Given the description of an element on the screen output the (x, y) to click on. 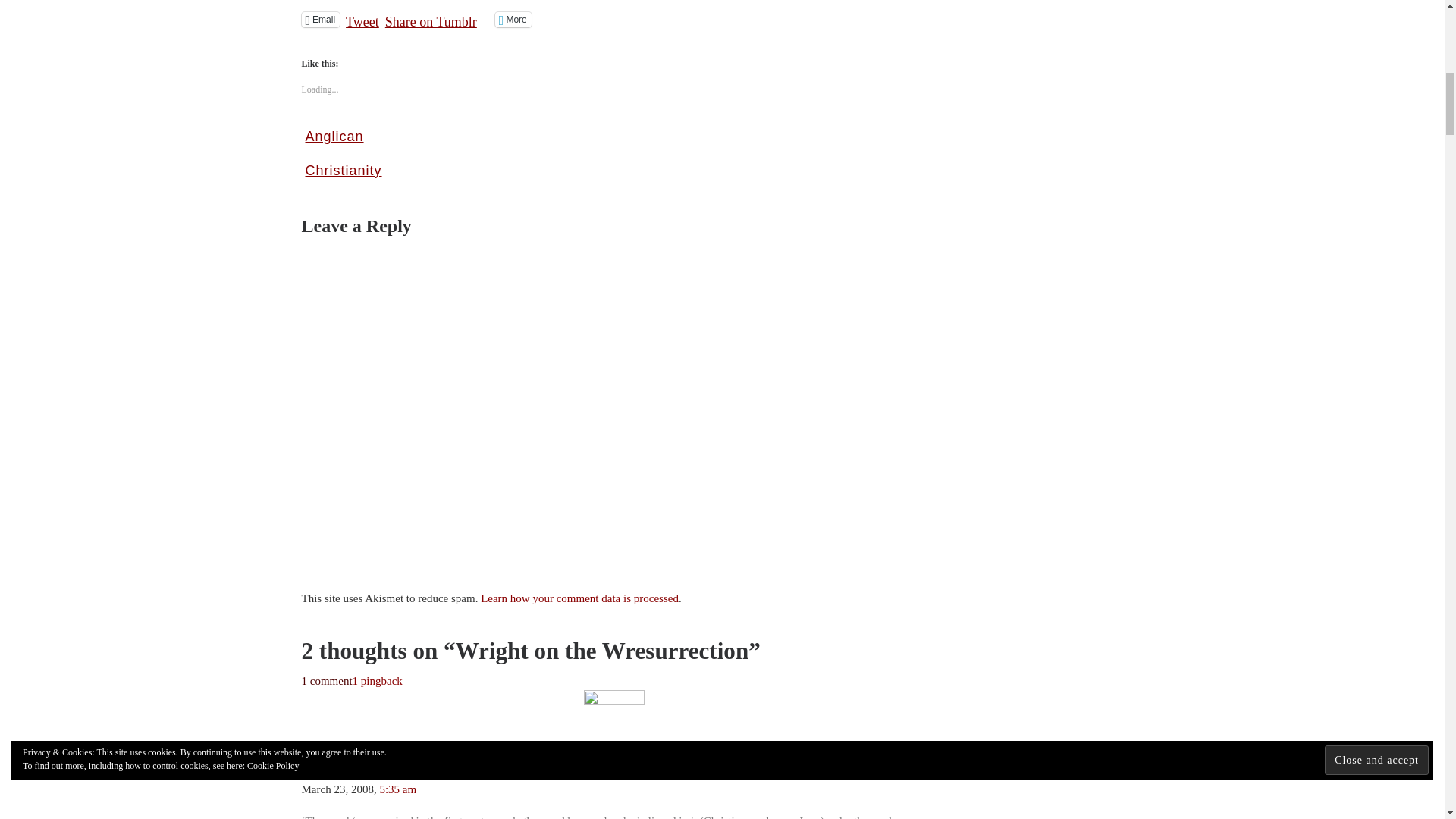
Share on Tumblr (431, 18)
View all posts in Christianity (342, 170)
Click to email a link to a friend (320, 19)
View all posts in Anglican (333, 136)
